Given the description of an element on the screen output the (x, y) to click on. 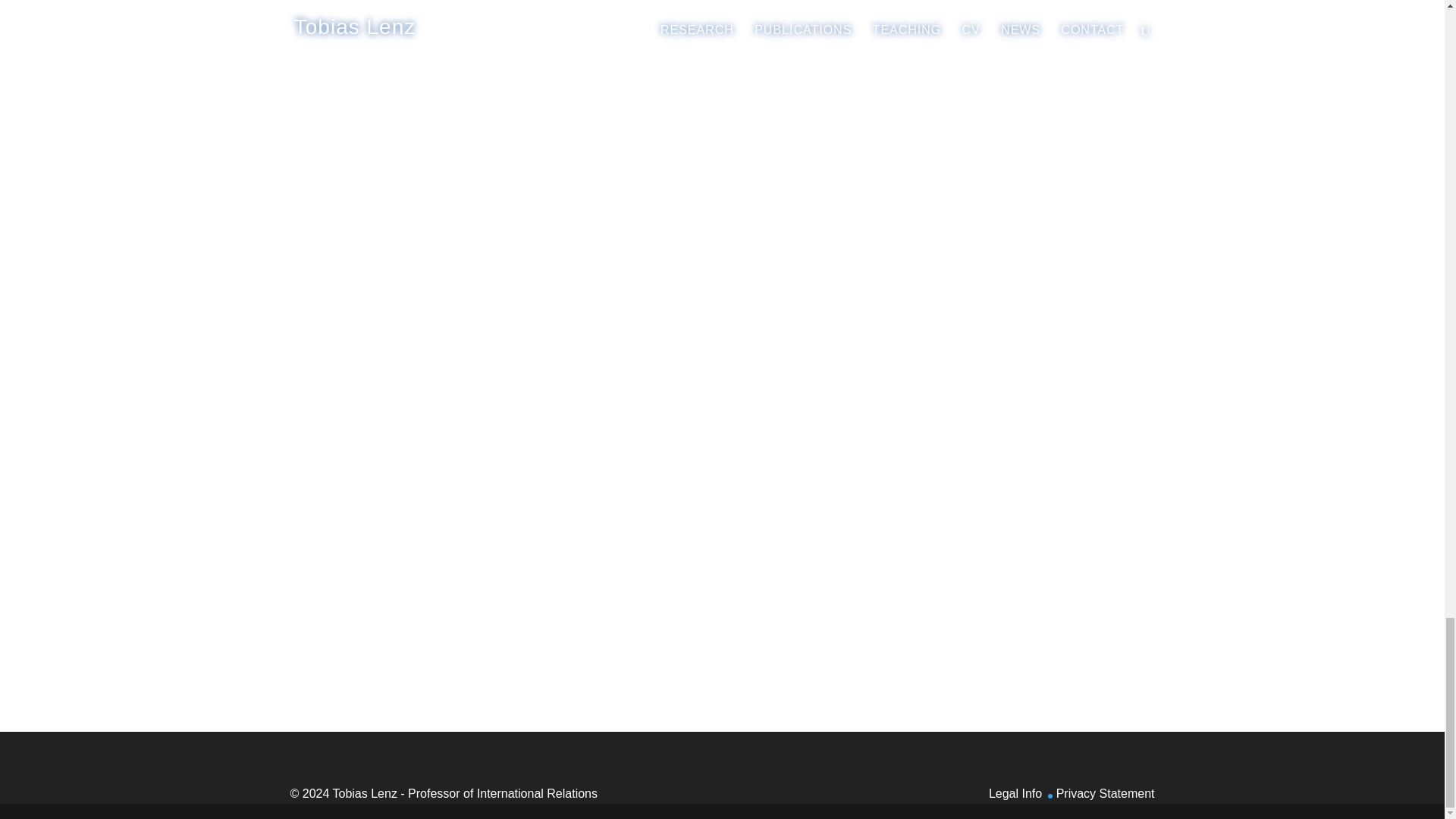
Legal Info (1015, 793)
Tobias Lenz - Professor of International Relations (463, 793)
Privacy Statement (1105, 793)
